Given the description of an element on the screen output the (x, y) to click on. 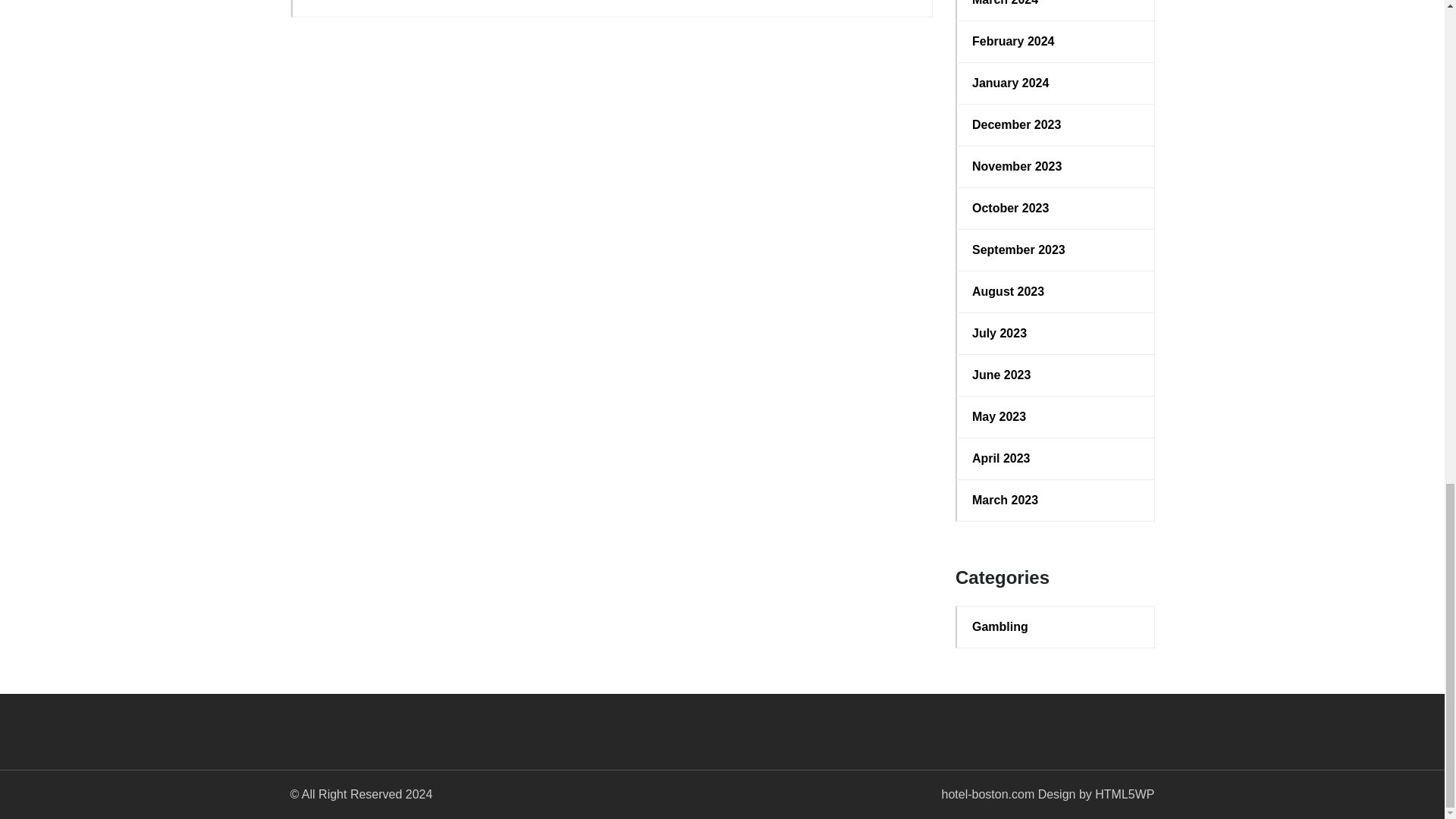
December 2023 (1055, 125)
March 2023 (1055, 500)
November 2023 (1055, 167)
January 2024 (1055, 83)
May 2023 (1055, 416)
February 2024 (1055, 41)
June 2023 (1055, 375)
October 2023 (1055, 208)
August 2023 (1055, 291)
March 2024 (1055, 4)
HTML5WP (1124, 793)
July 2023 (1055, 333)
Gambling (1055, 627)
September 2023 (1055, 249)
April 2023 (1055, 458)
